Given the description of an element on the screen output the (x, y) to click on. 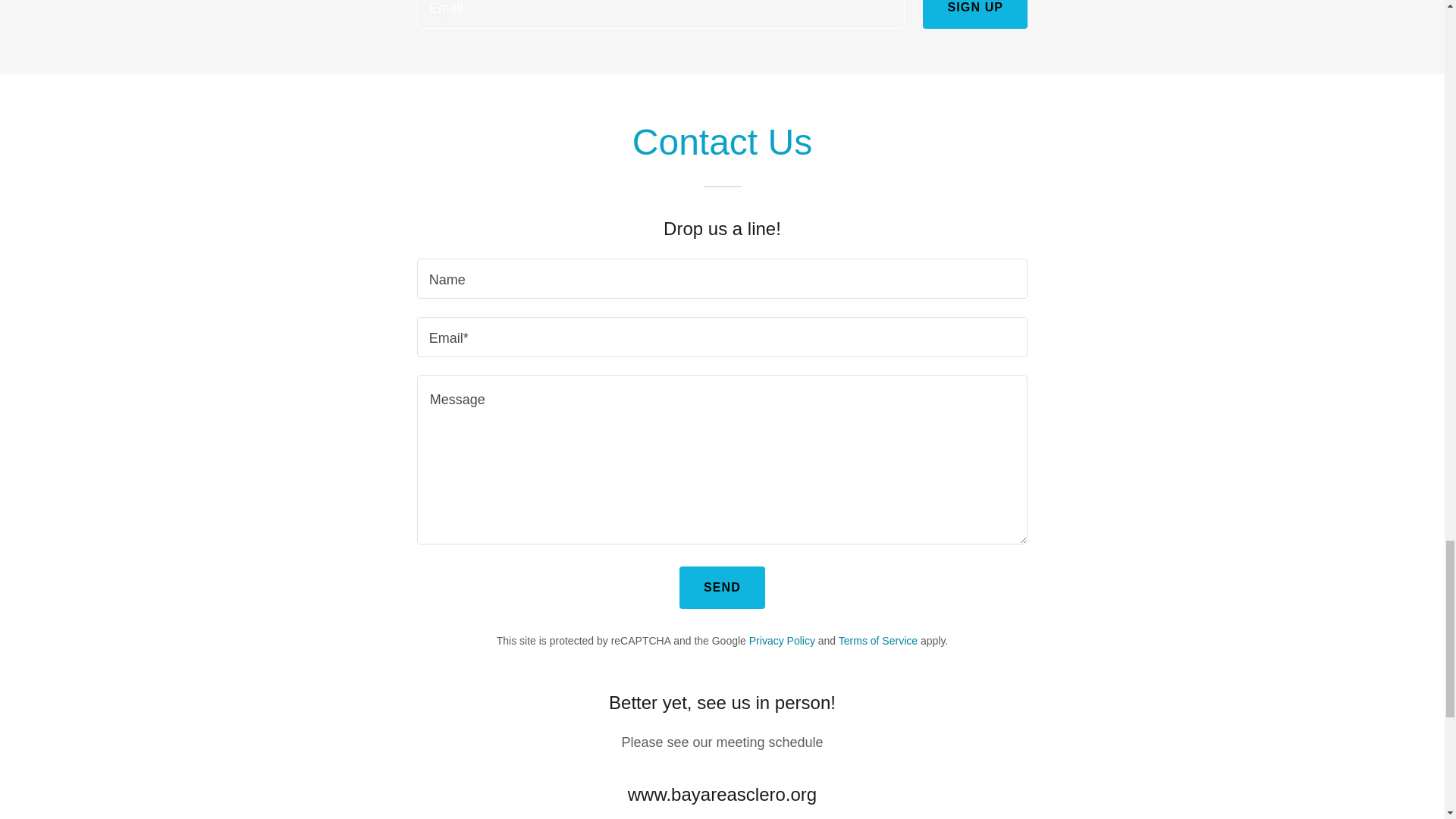
Terms of Service (877, 640)
SEND (722, 587)
SIGN UP (975, 14)
Privacy Policy (782, 640)
